Given the description of an element on the screen output the (x, y) to click on. 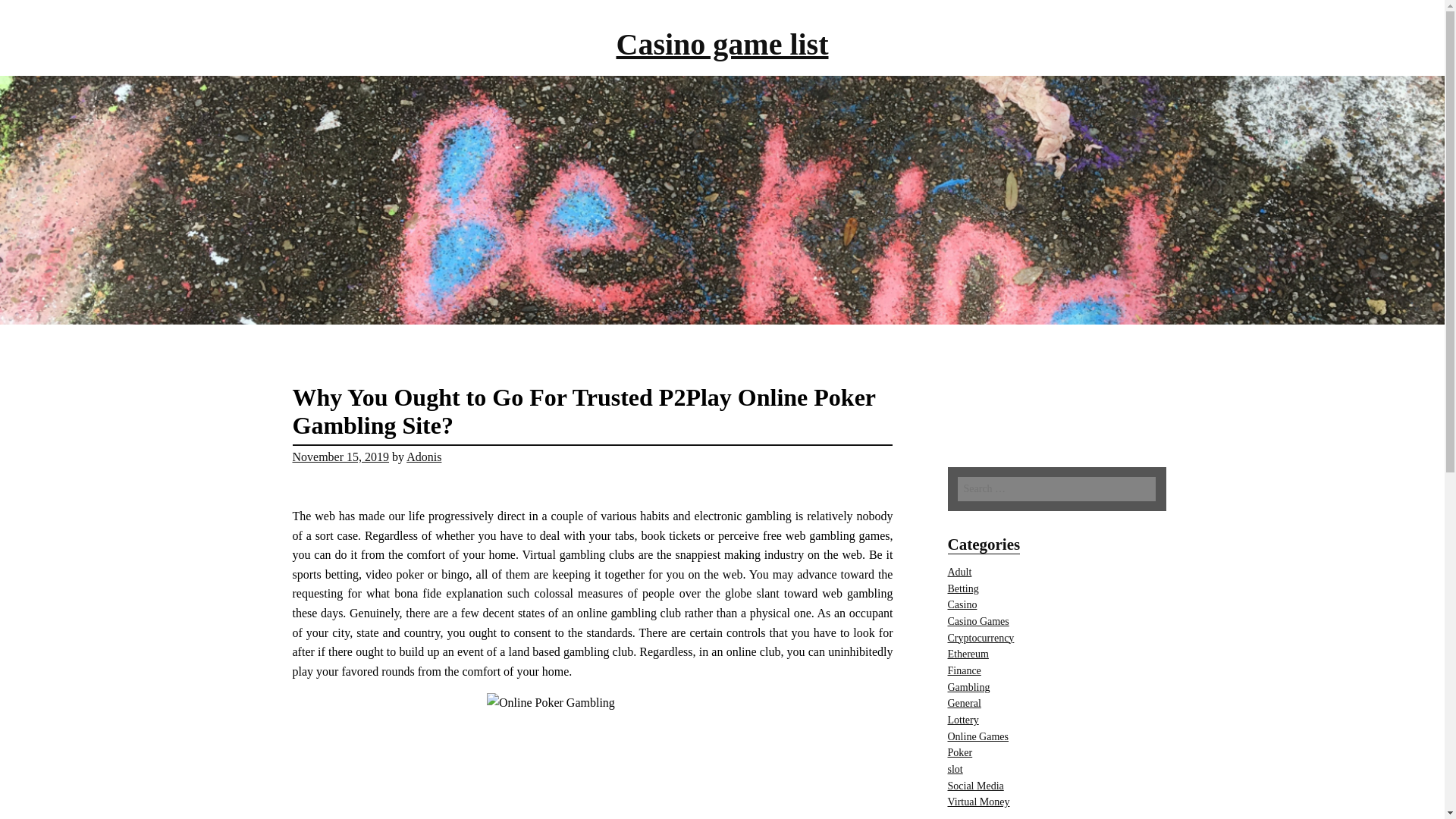
Ethereum (967, 654)
Finance (964, 670)
Virtual Money (978, 801)
Adonis (423, 456)
November 15, 2019 (341, 456)
Adult (959, 572)
Poker (959, 752)
Betting (962, 588)
Gambling (968, 686)
Casino Games (978, 621)
